Given the description of an element on the screen output the (x, y) to click on. 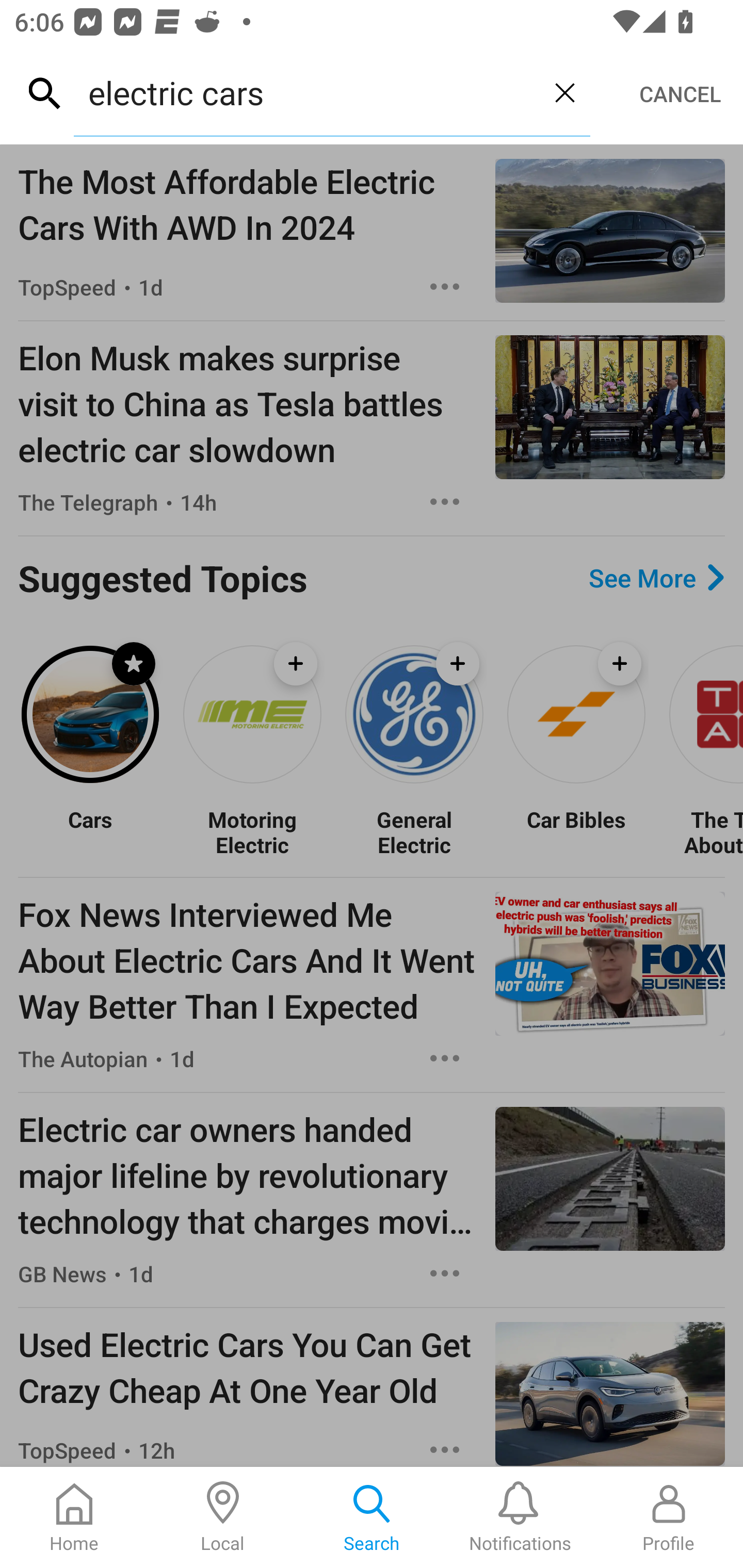
Clear query (564, 92)
CANCEL (680, 93)
electric cars (306, 92)
Options (444, 286)
Options (444, 501)
See More (656, 577)
Cars (89, 831)
Motoring Electric (251, 831)
General Electric (413, 831)
Car Bibles (575, 831)
The Truth About Cars (704, 831)
Options (444, 1058)
Options (444, 1273)
Options (444, 1447)
Home (74, 1517)
Local (222, 1517)
Notifications (519, 1517)
Profile (668, 1517)
